Given the description of an element on the screen output the (x, y) to click on. 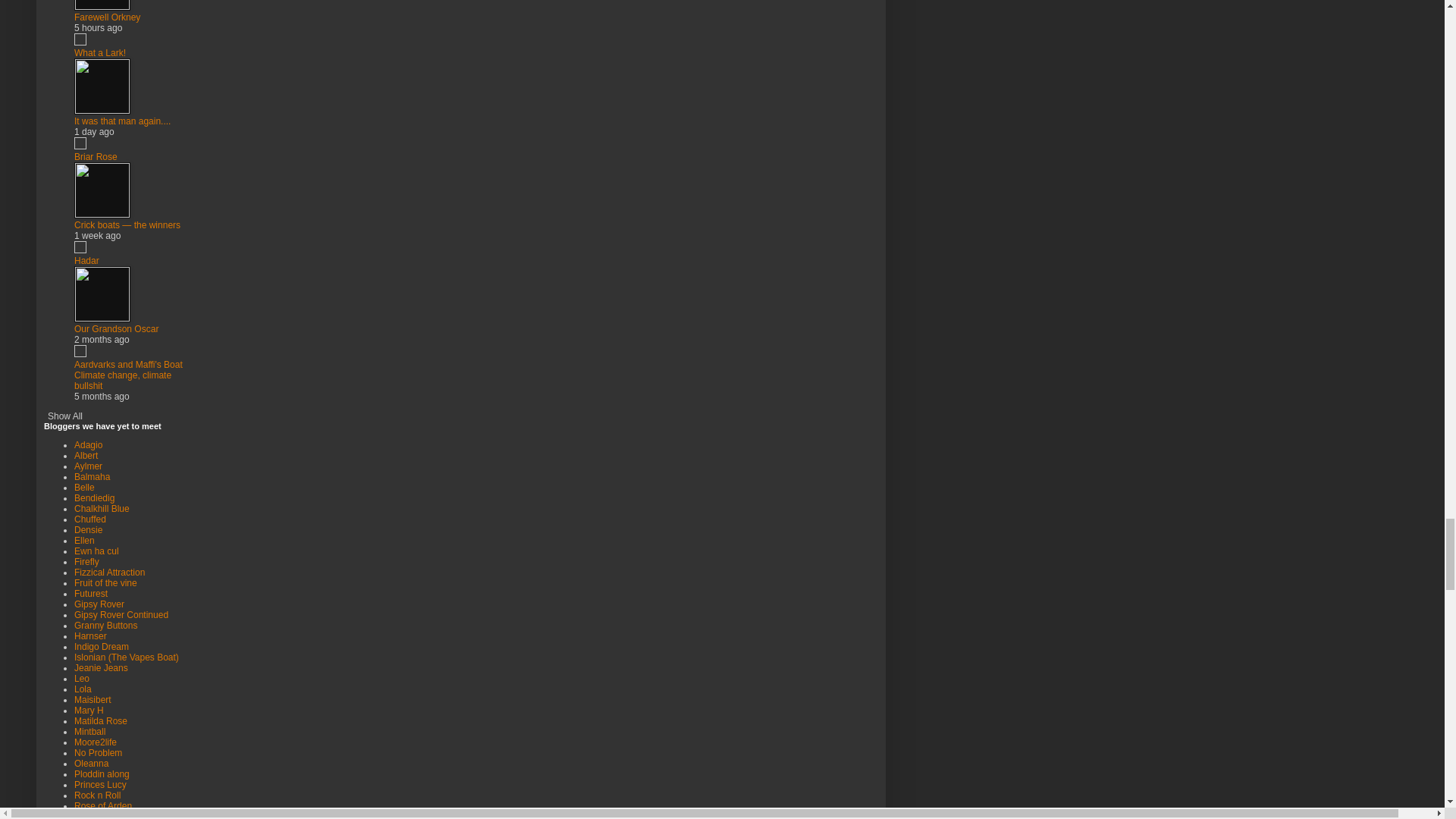
Briar Rose (95, 156)
It was that man again.... (122, 121)
What a Lark! (99, 52)
Hadar (86, 260)
Farewell Orkney (106, 17)
